Given the description of an element on the screen output the (x, y) to click on. 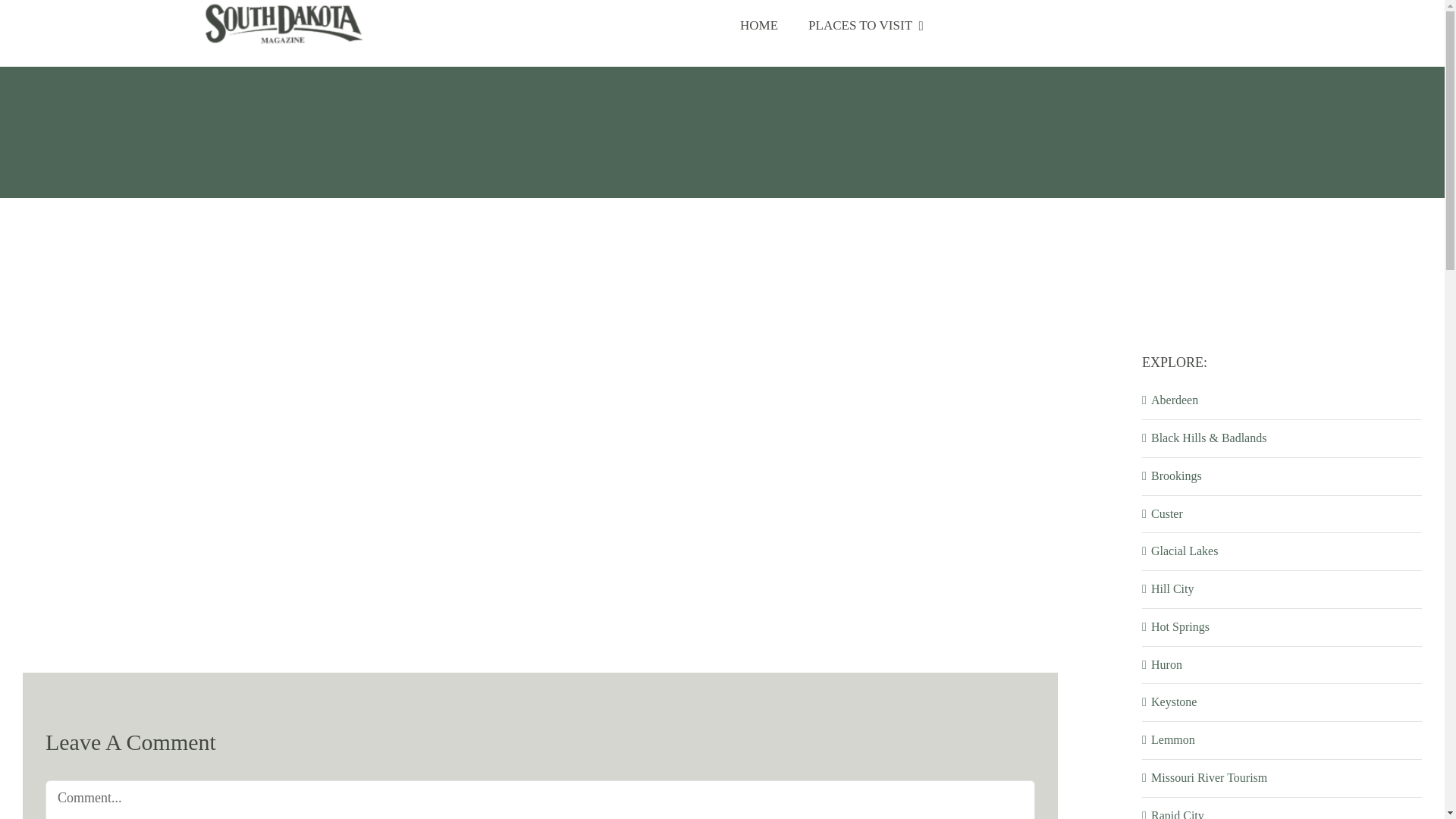
PLACES TO VISIT (866, 25)
HOME (759, 25)
